Given the description of an element on the screen output the (x, y) to click on. 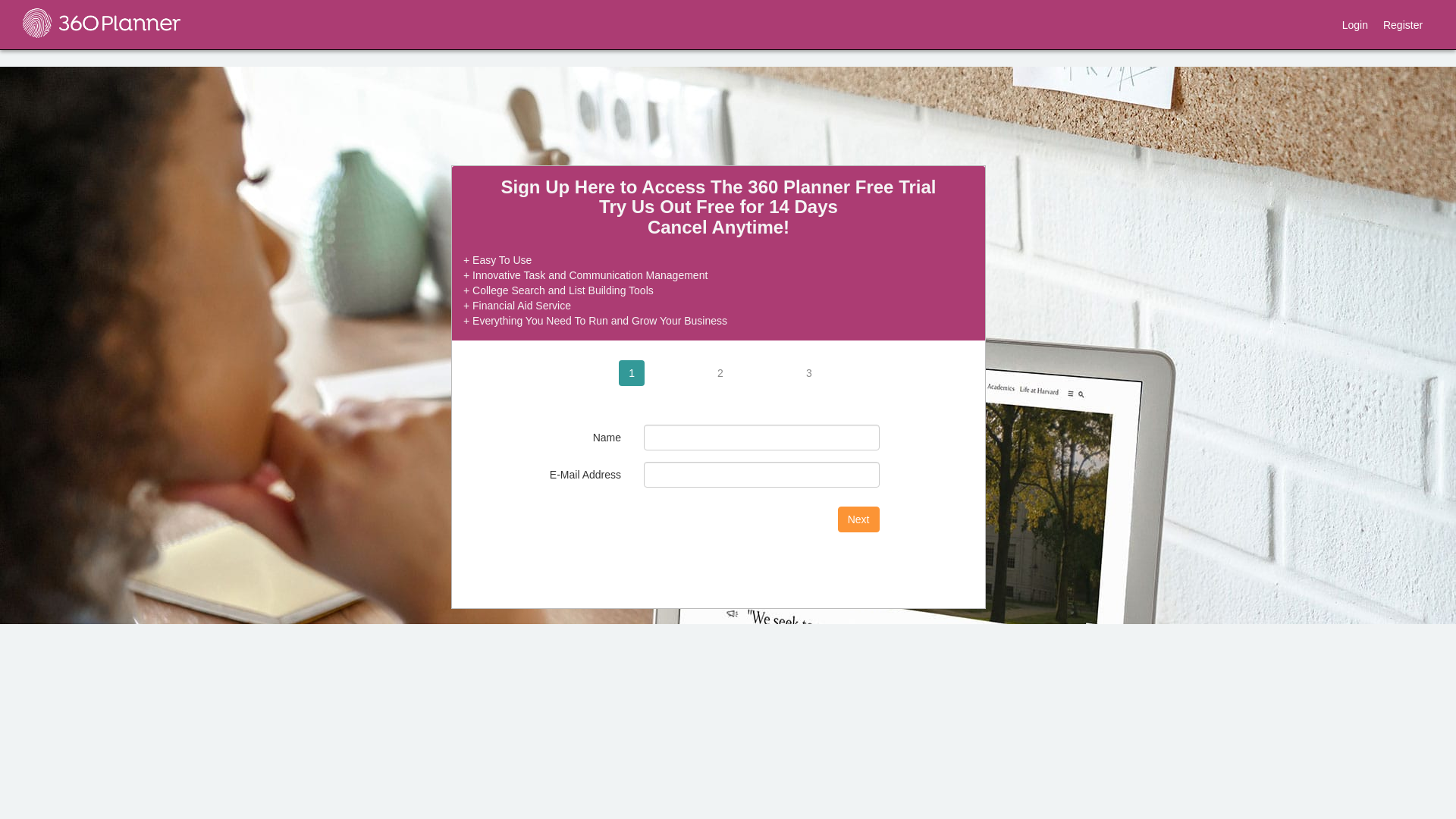
Next Element type: text (858, 519)
Login Element type: text (1354, 24)
Register Element type: text (1402, 24)
3 Element type: text (809, 372)
1 Element type: text (631, 372)
2 Element type: text (720, 372)
